Given the description of an element on the screen output the (x, y) to click on. 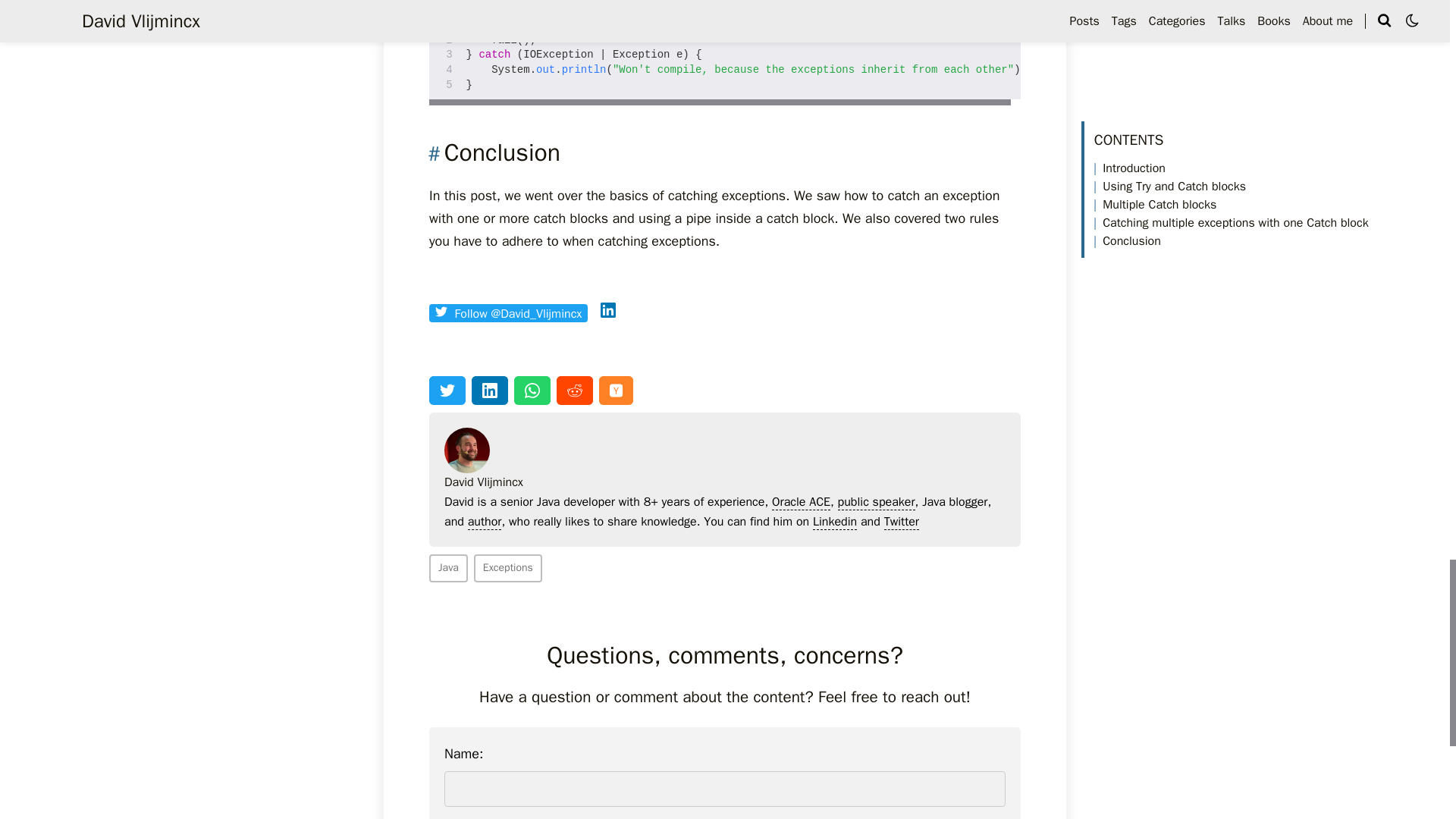
LinkedIn (607, 312)
Share on Linkedin (489, 389)
Share on Hacker News (615, 389)
Share on Twitter (447, 389)
Share on Reddit (574, 389)
Copy to clipboard (1007, 5)
Twitter (440, 311)
Share on WhatsApp (531, 389)
